Given the description of an element on the screen output the (x, y) to click on. 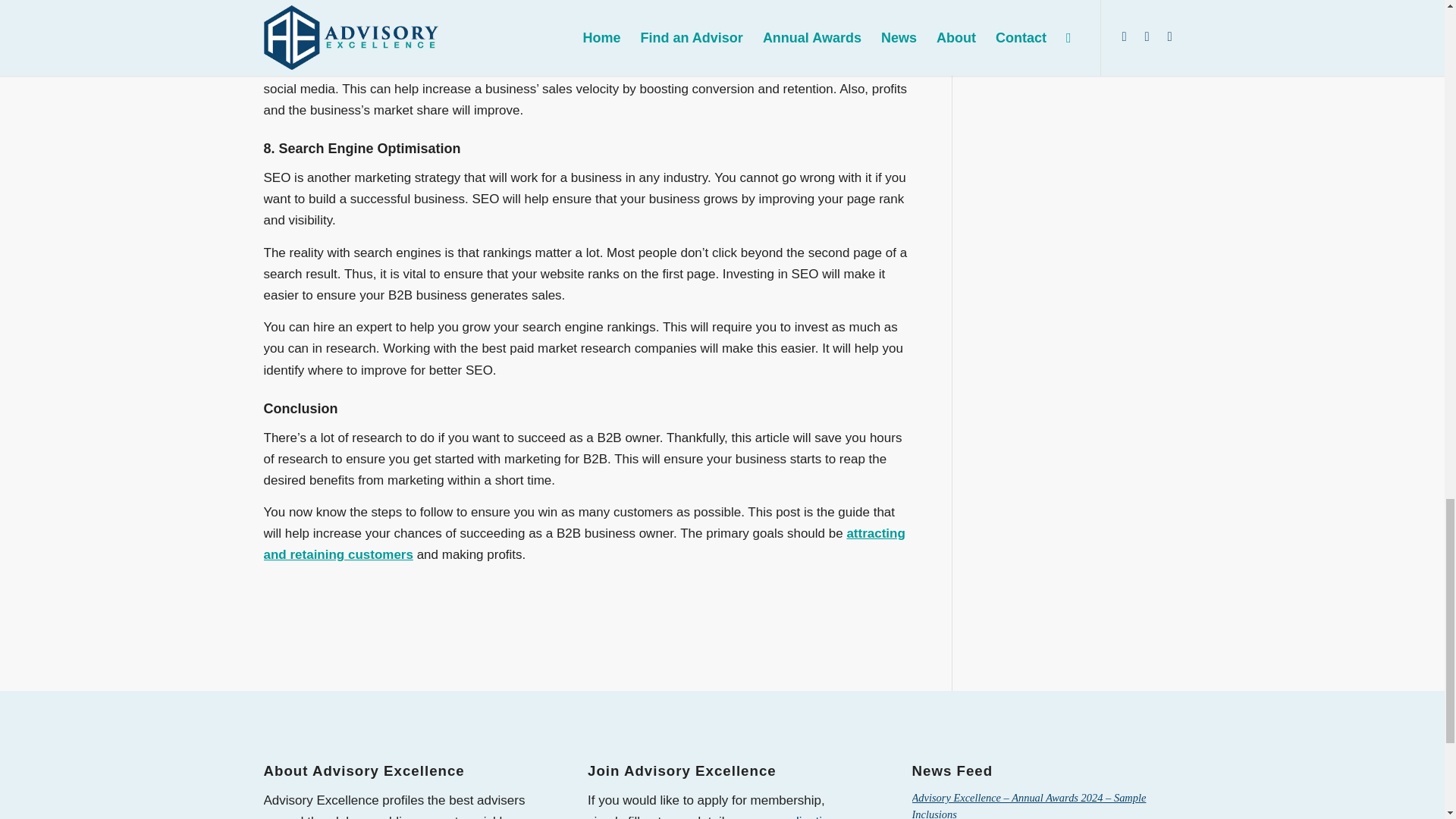
attracting and retaining customers (584, 543)
application form (711, 816)
influencer marketing (476, 67)
